Given the description of an element on the screen output the (x, y) to click on. 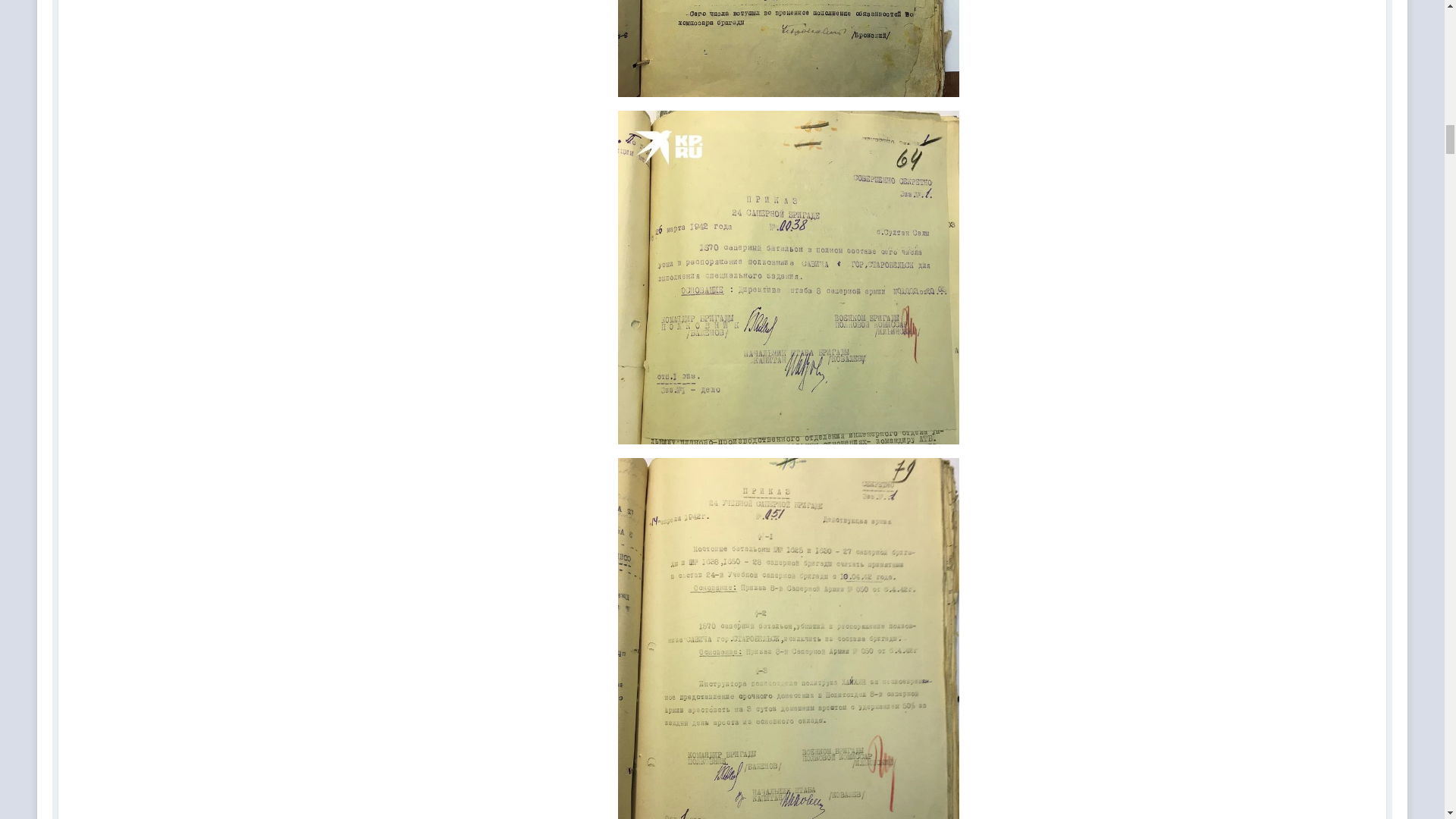
Semyon Zolotaryov documents (788, 277)
Semyon Zolotaryov documents (788, 638)
Semyon Zolotaryov documents (788, 48)
